Given the description of an element on the screen output the (x, y) to click on. 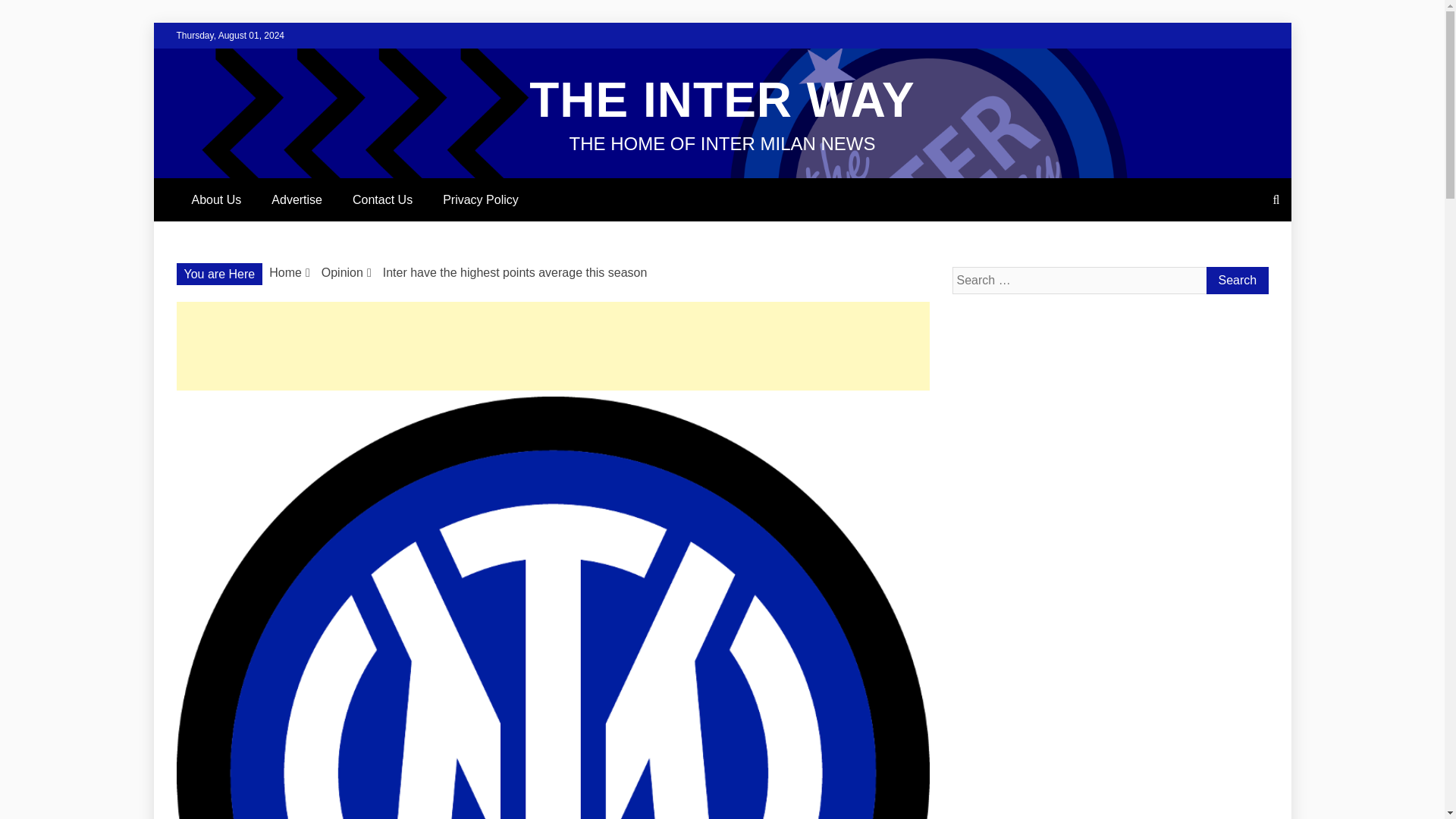
Privacy Policy (481, 199)
Contact Us (382, 199)
Opinion (341, 272)
Search (1236, 280)
Search (1236, 280)
THE INTER WAY (721, 99)
Advertise (296, 199)
Search (1236, 280)
Home (285, 272)
About Us (216, 199)
